Given the description of an element on the screen output the (x, y) to click on. 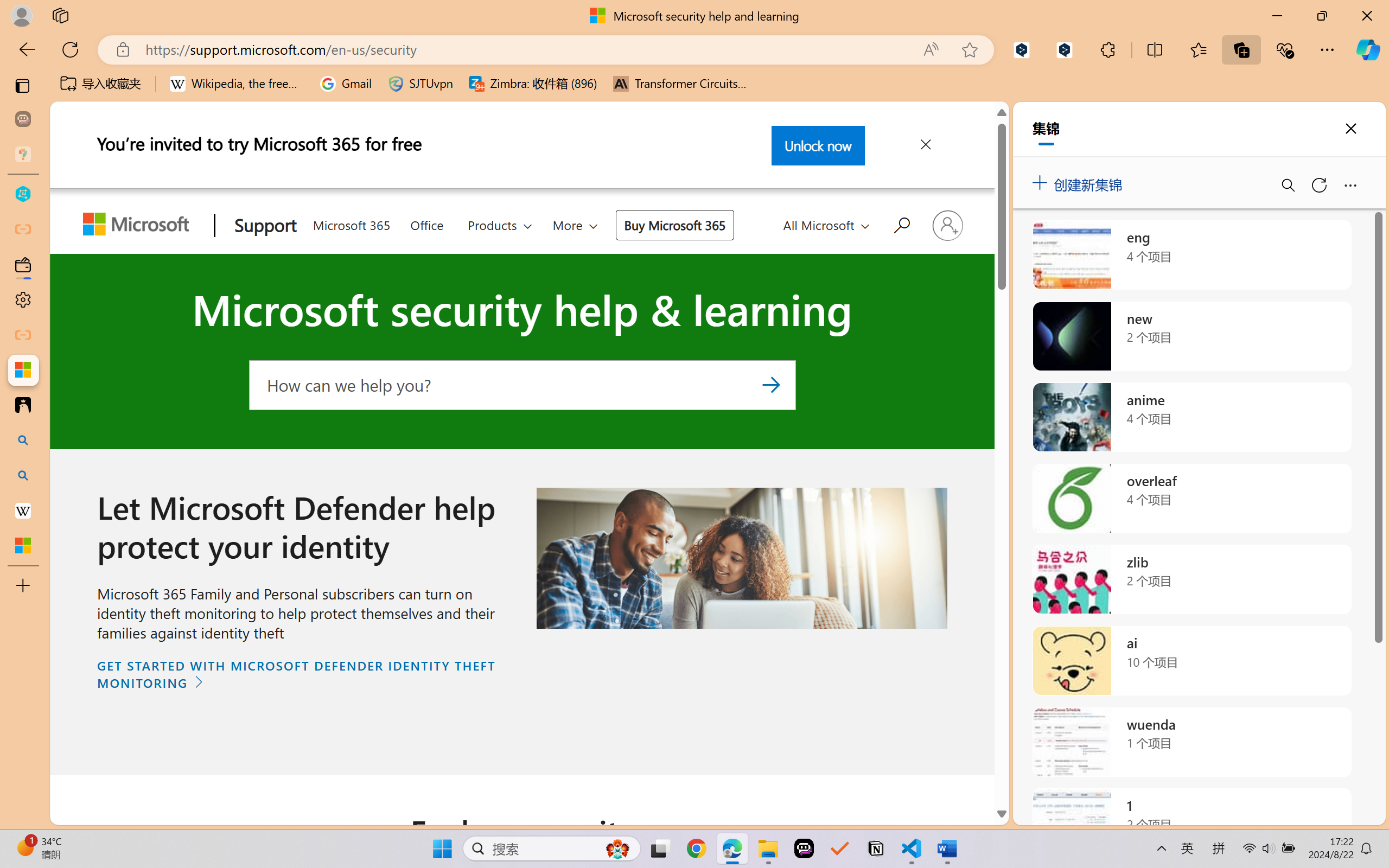
SJTUvpn (419, 83)
Search (770, 384)
Copilot (Ctrl+Shift+.) (1368, 49)
Couple using a laptop while working on their home finances (741, 557)
Support (262, 225)
